Given the description of an element on the screen output the (x, y) to click on. 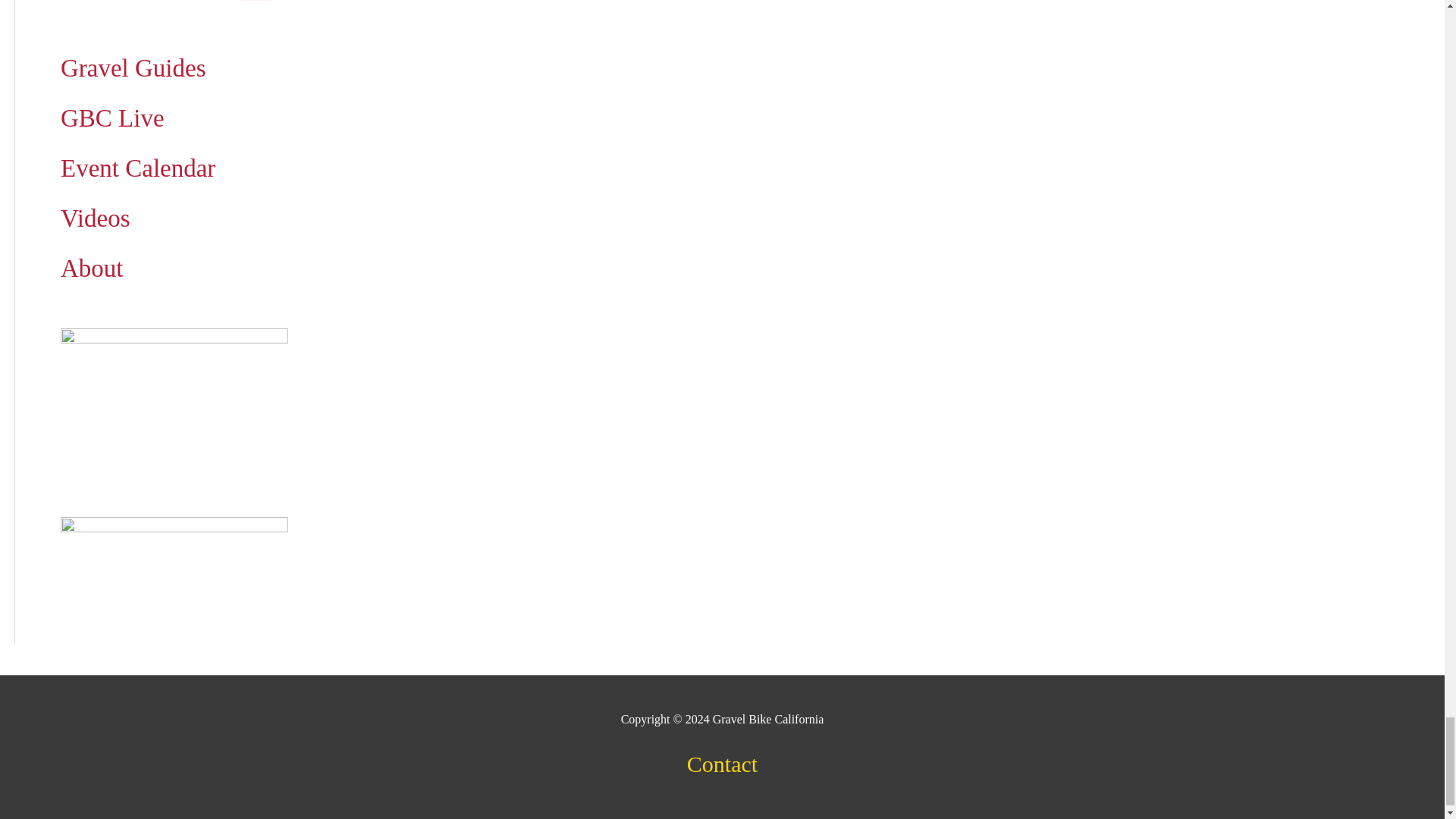
Gravel Guides (133, 72)
About (92, 272)
GBC Live (112, 122)
Contact (722, 767)
Videos (96, 222)
Event Calendar (138, 172)
